Given the description of an element on the screen output the (x, y) to click on. 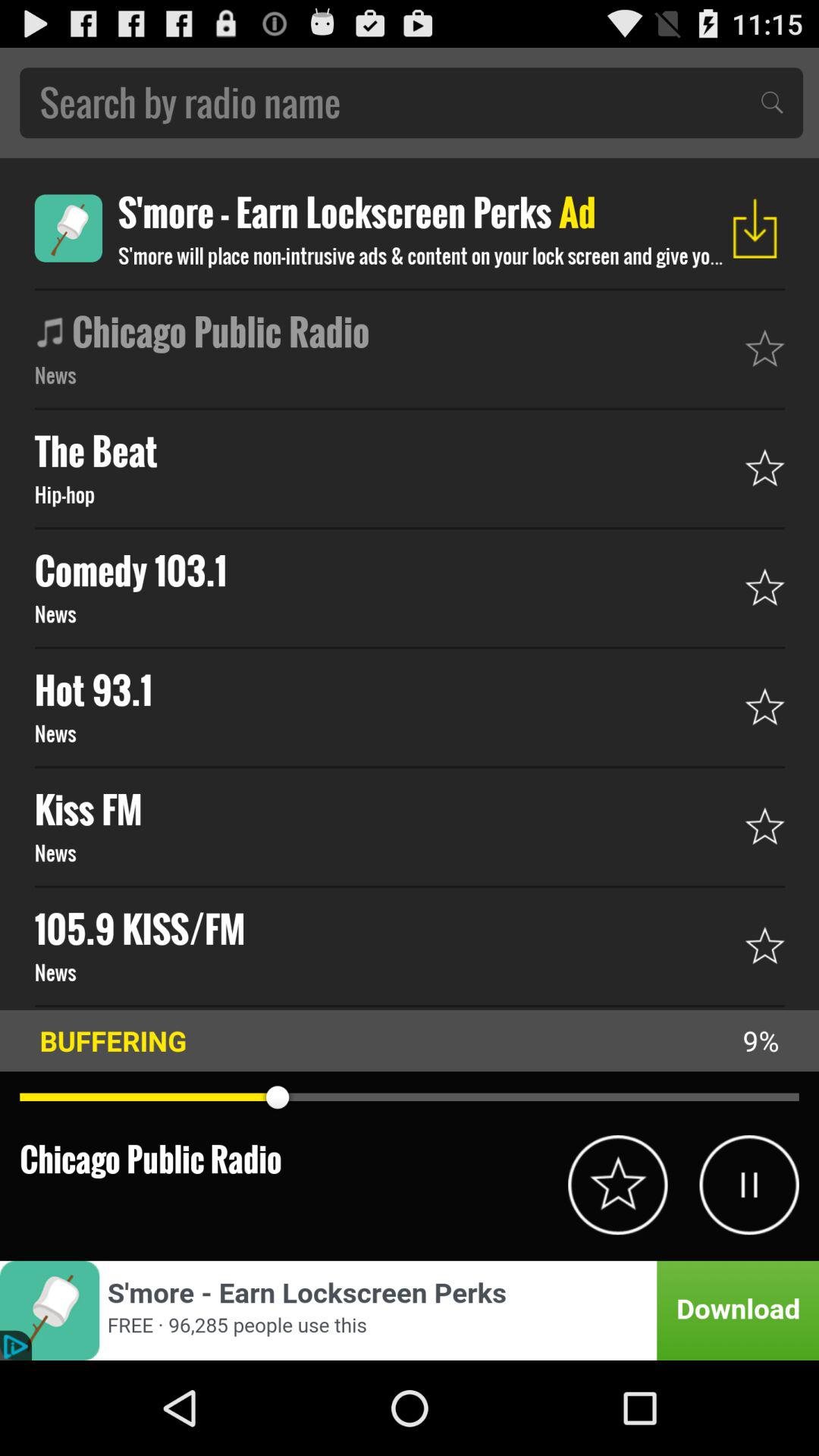
click on search bar (411, 102)
select the star right to the beat (764, 466)
click on star icon which is beside chicago public radio (764, 348)
